Given the description of an element on the screen output the (x, y) to click on. 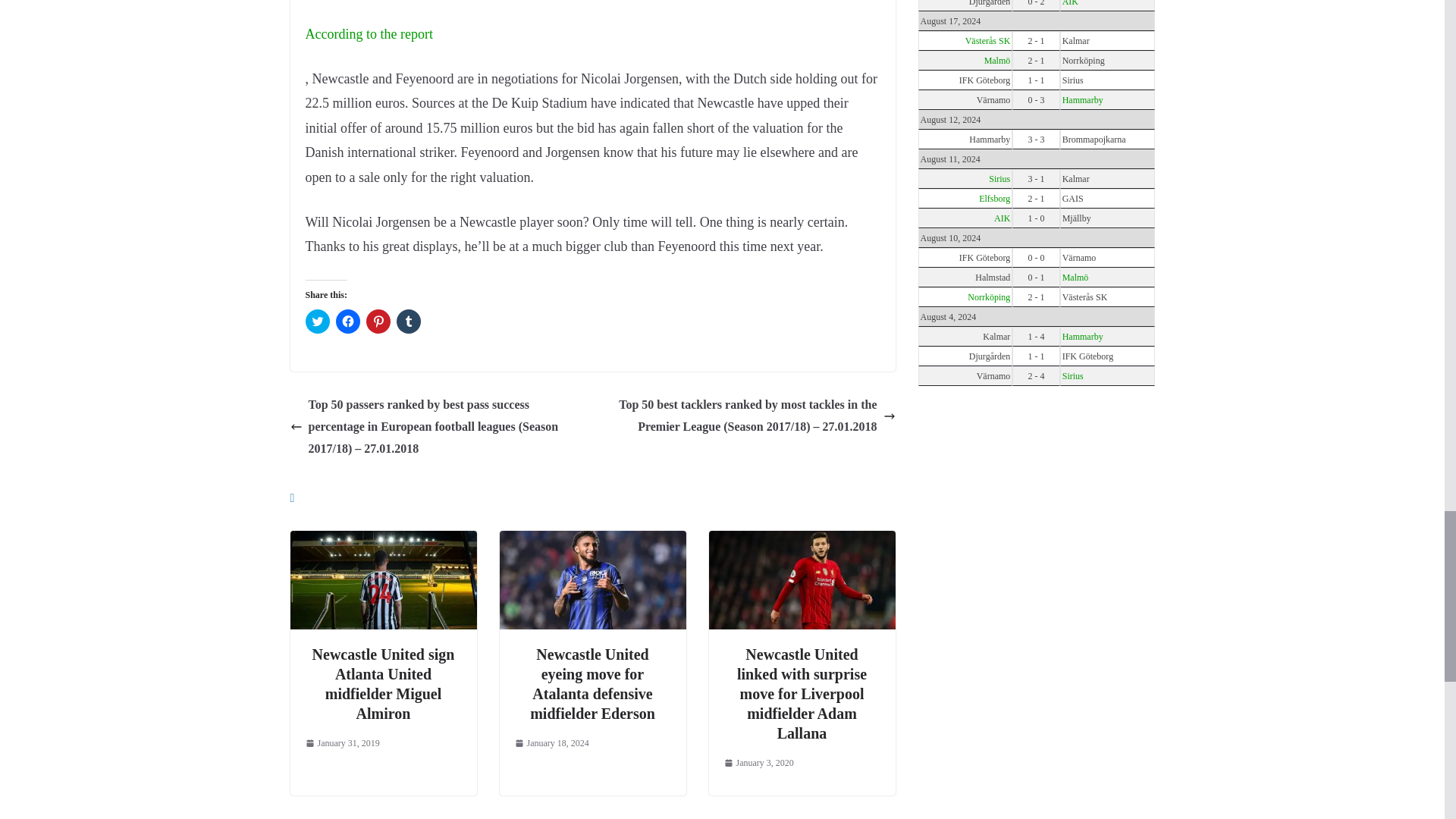
Click to share on Facebook (346, 321)
Click to share on Twitter (316, 321)
Click to share on Tumblr (408, 321)
4:57 pm (341, 743)
Click to share on Pinterest (377, 321)
